Given the description of an element on the screen output the (x, y) to click on. 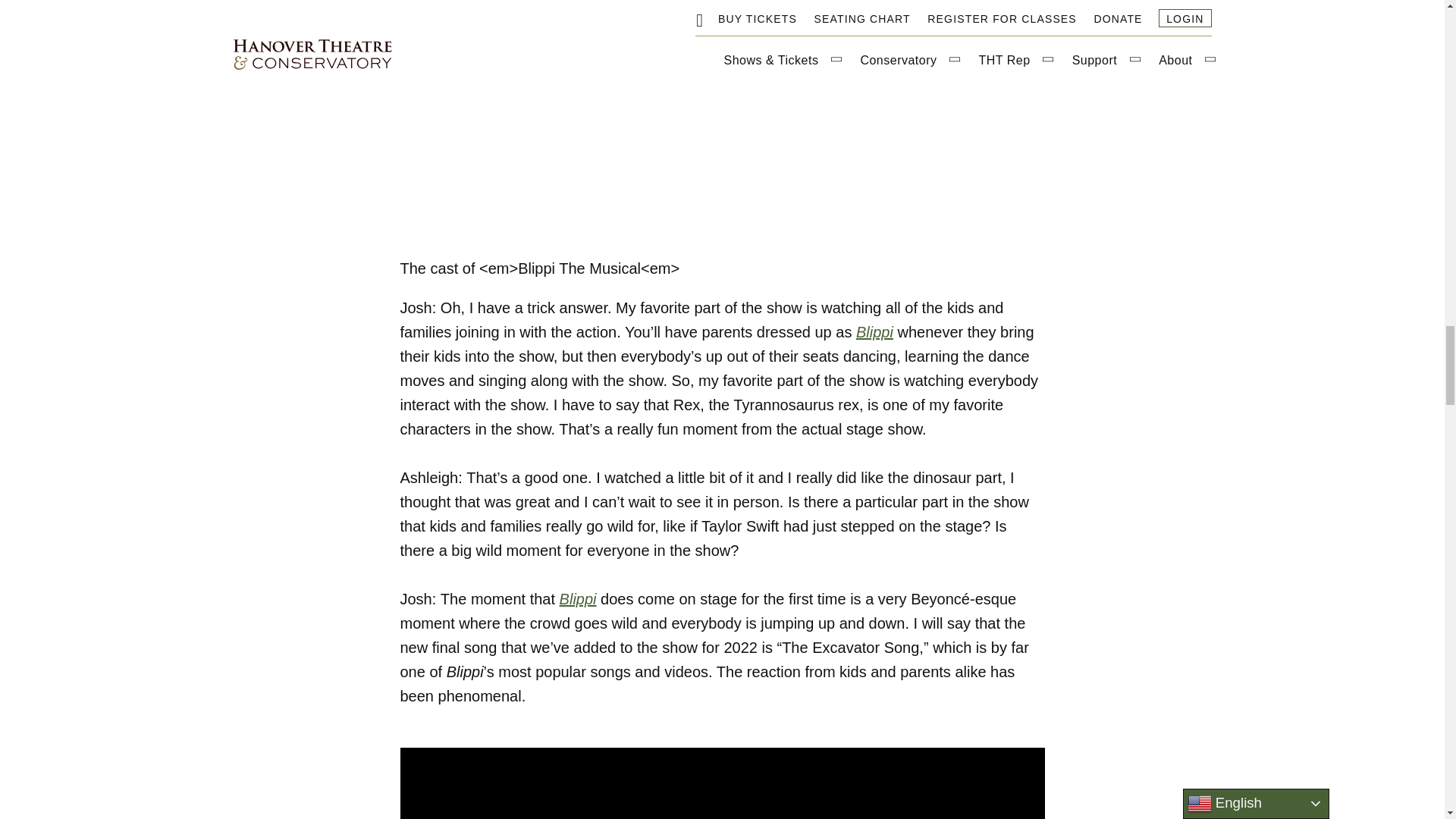
youtube video (722, 783)
